Given the description of an element on the screen output the (x, y) to click on. 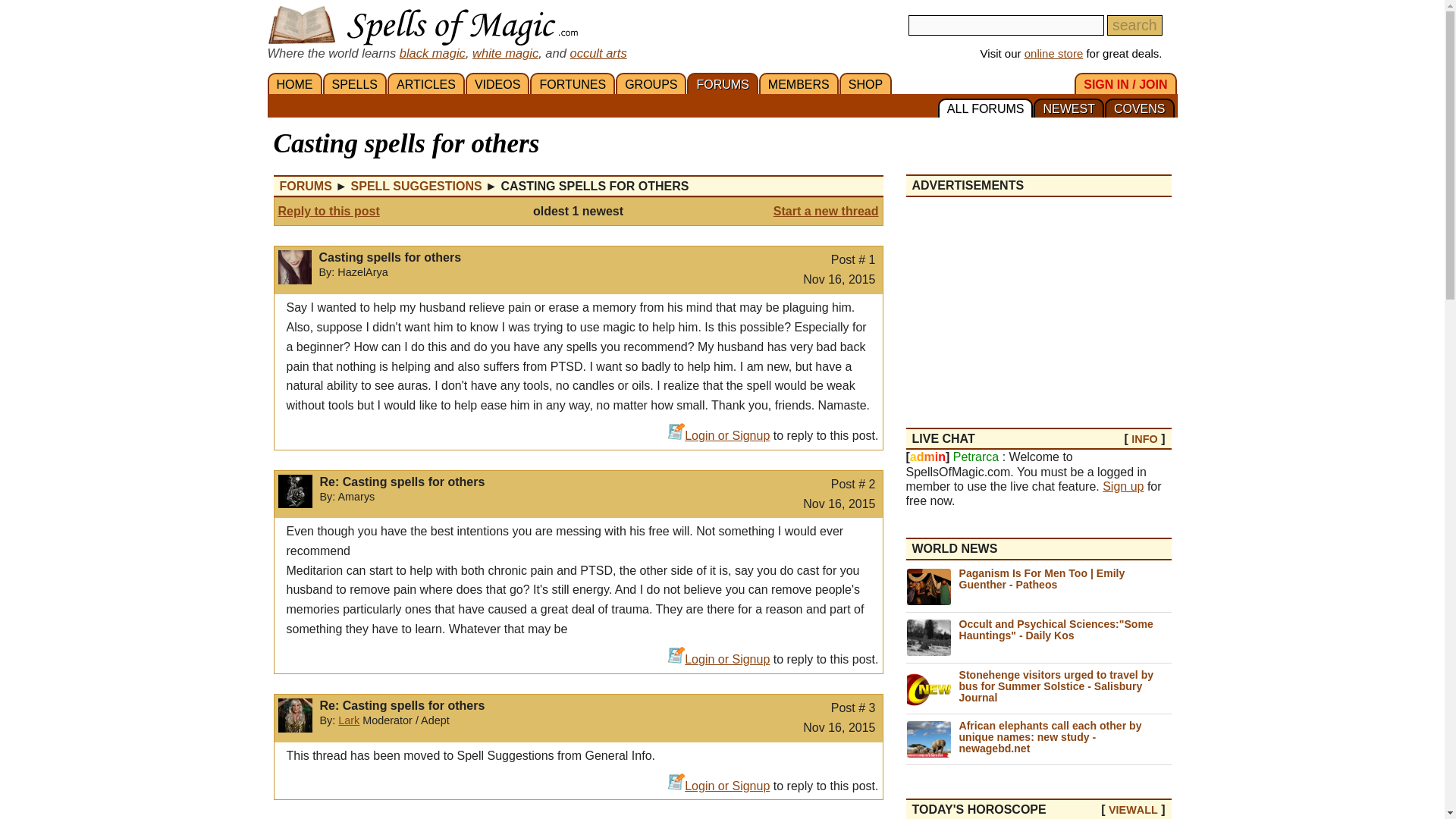
search (1133, 25)
SPELLS (355, 83)
black magic (431, 52)
Advertisement (1037, 303)
occult arts (597, 52)
search (1133, 25)
HOME (293, 83)
online store (1054, 52)
white magic (504, 52)
